Given the description of an element on the screen output the (x, y) to click on. 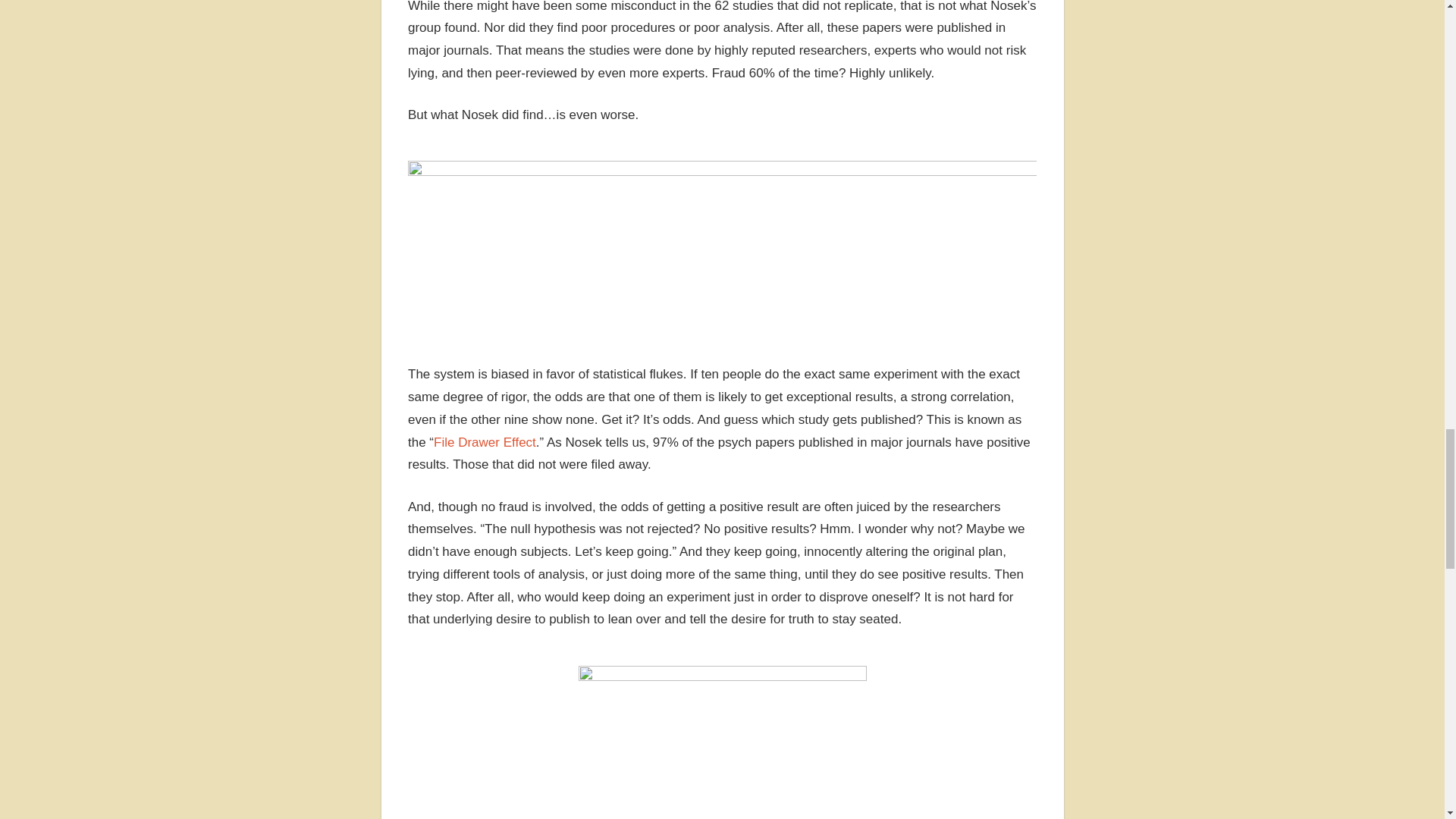
File Drawer Effect (484, 441)
